Given the description of an element on the screen output the (x, y) to click on. 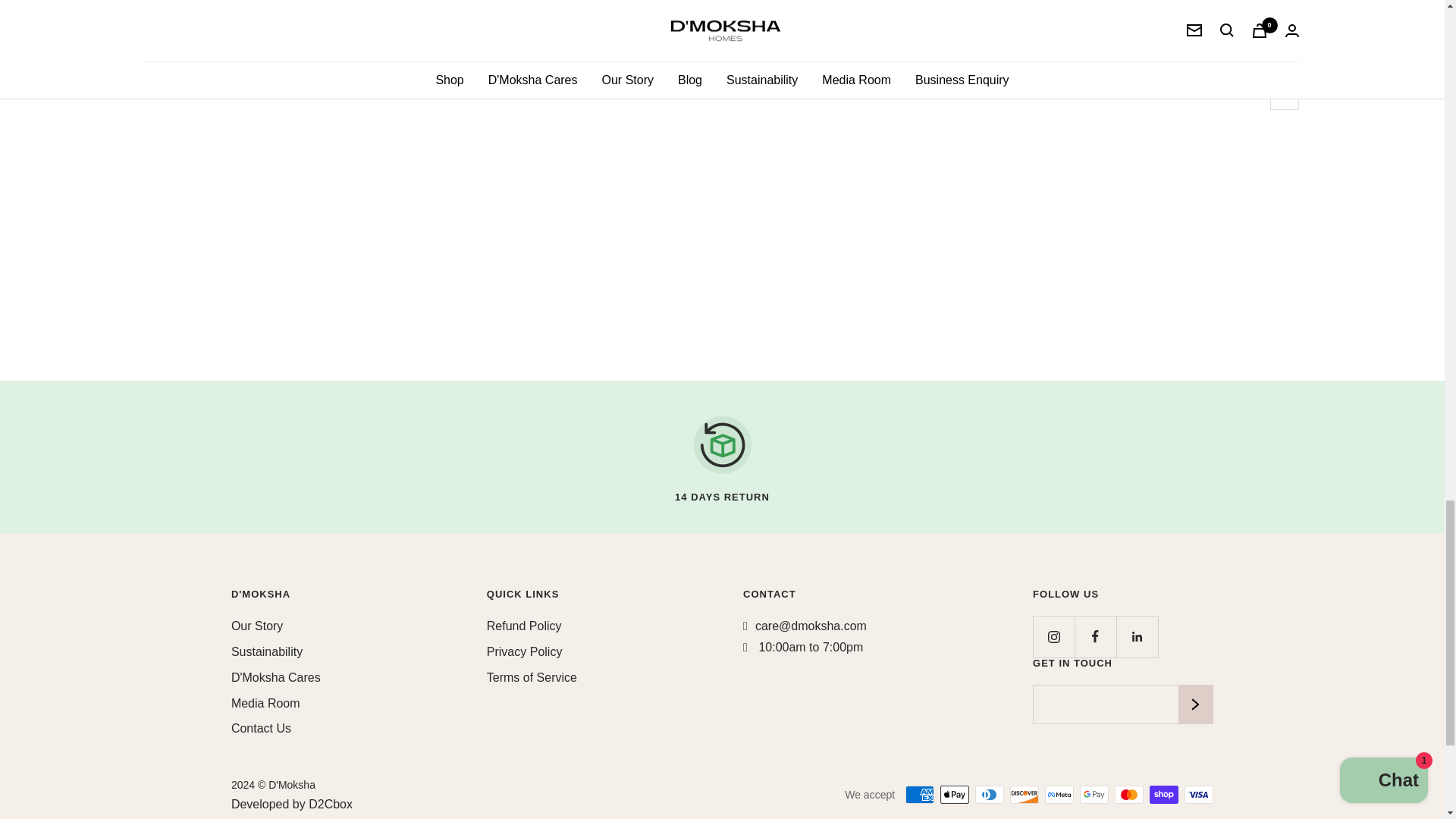
14 DAYS RETURN (721, 457)
